Given the description of an element on the screen output the (x, y) to click on. 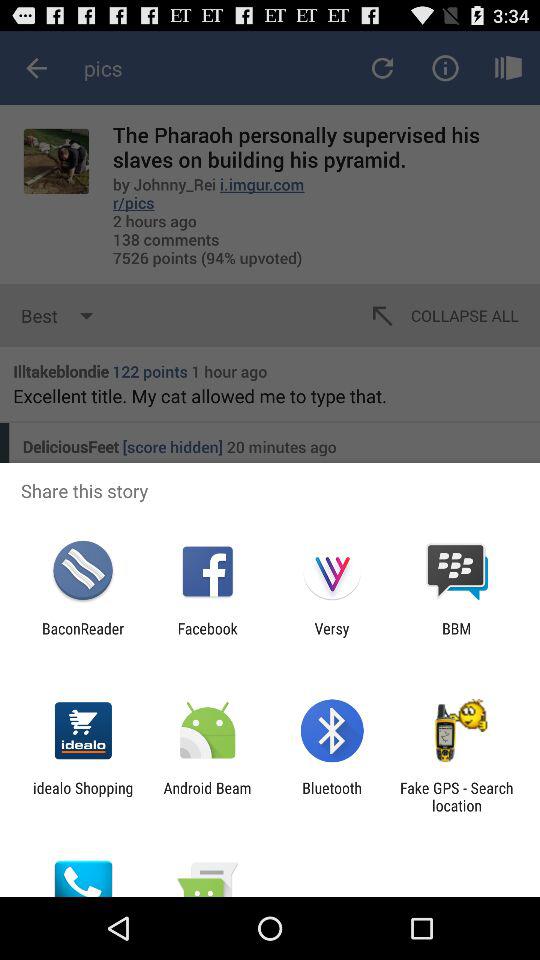
tap the app next to the versy icon (456, 637)
